Given the description of an element on the screen output the (x, y) to click on. 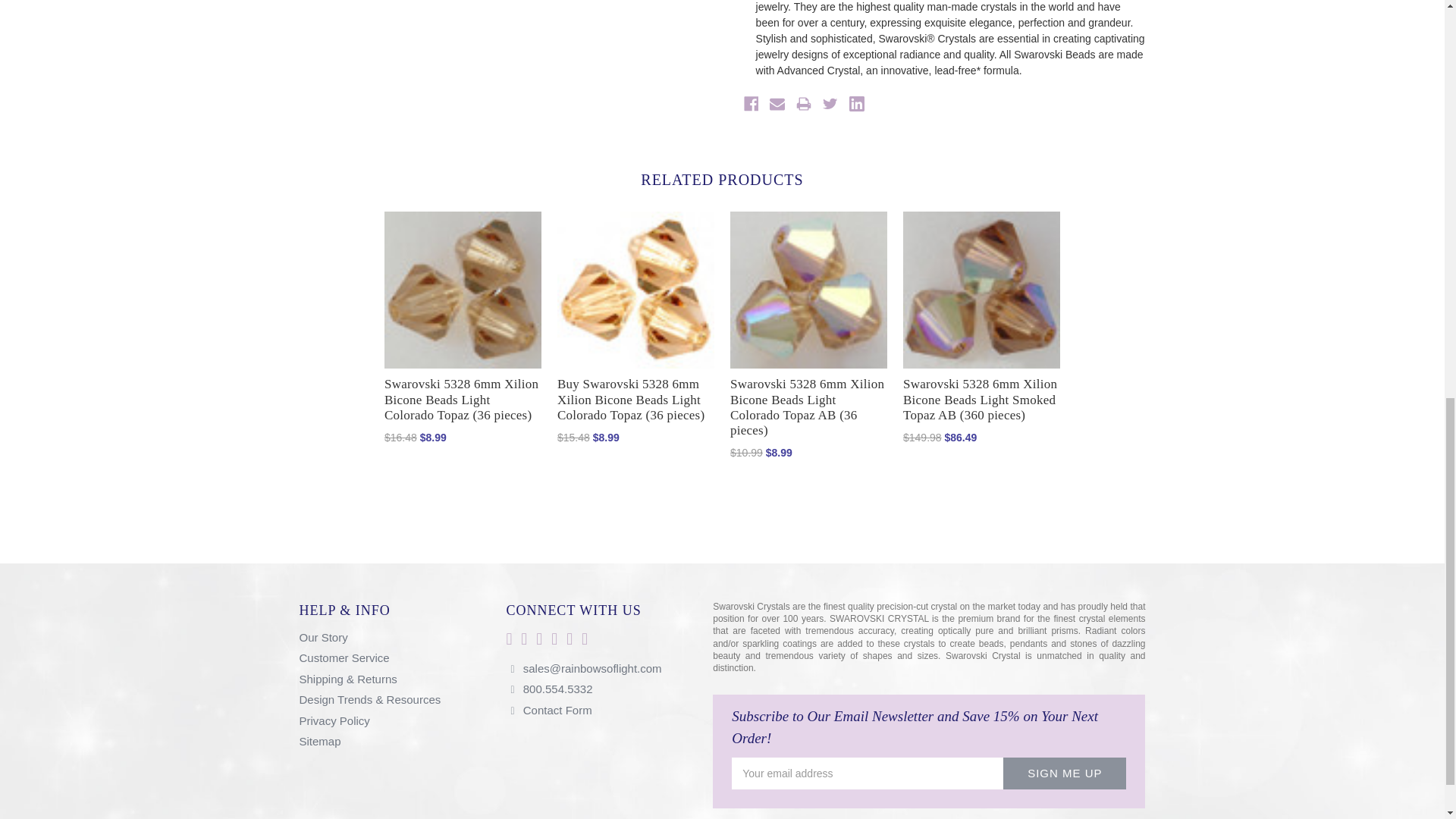
Swarovski 5328 6mm Xilion Bicone Beads Light Colorado Topaz (462, 289)
Swarovski 5328 6mm Xilion Bicone Beads Light Smoked Topaz AB (980, 289)
Sign Me Up (1064, 773)
Swarovski 5328 6mm Xilion Bicone Beads Light Colorado Topaz (635, 289)
